Given the description of an element on the screen output the (x, y) to click on. 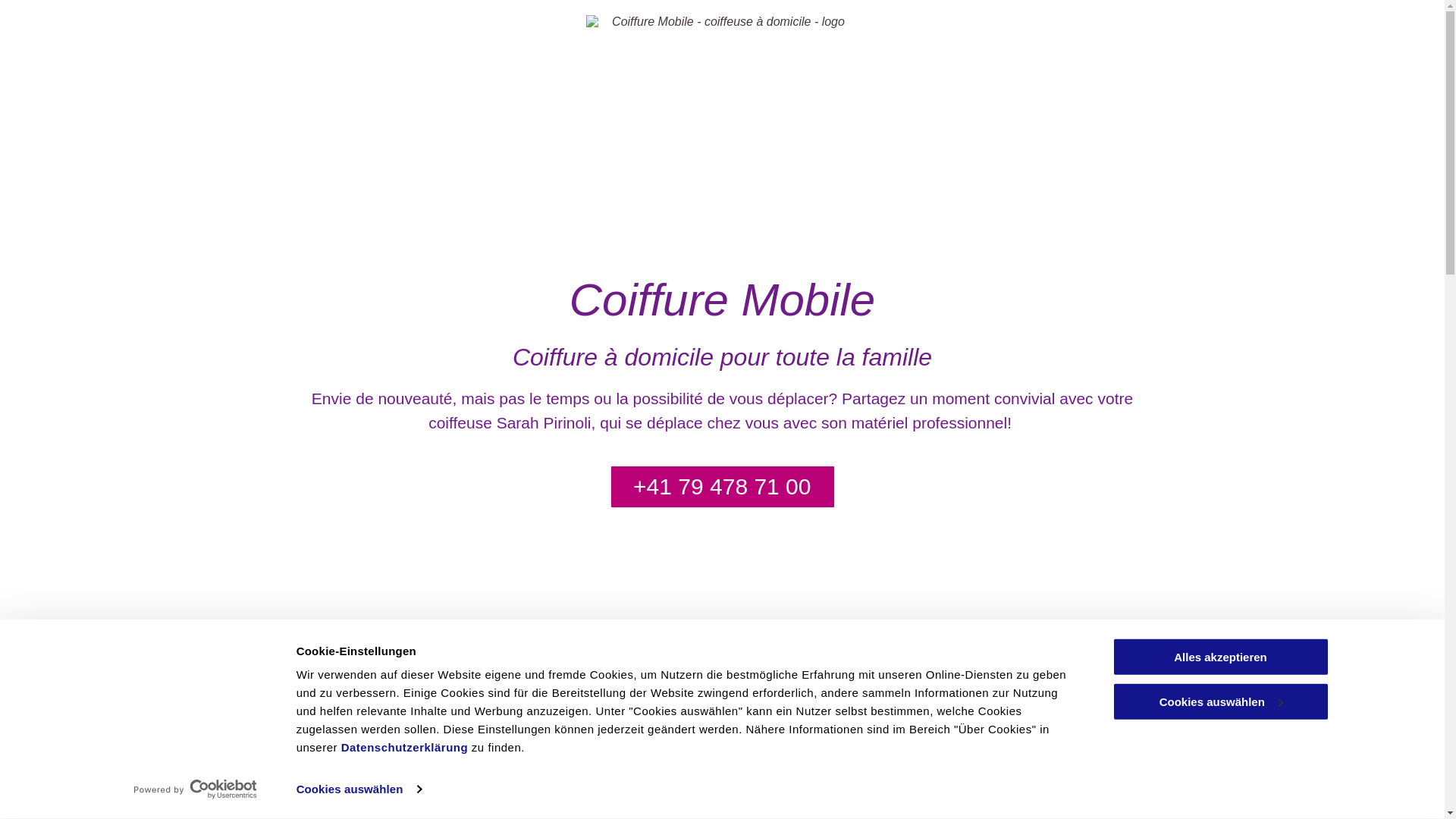
Alles akzeptieren Element type: text (1219, 656)
+41 79 478 71 00 Element type: text (722, 486)
